Given the description of an element on the screen output the (x, y) to click on. 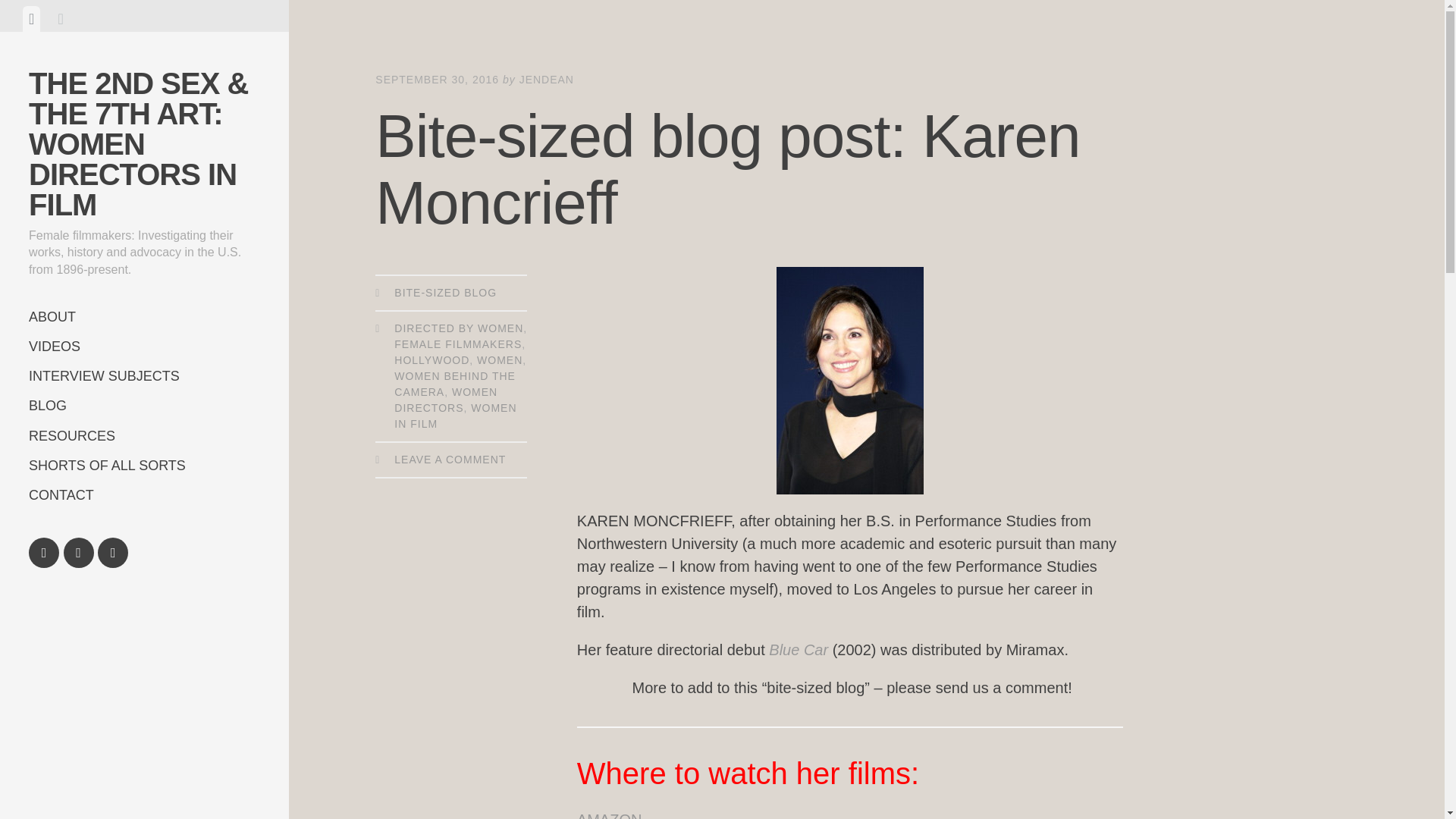
INTERVIEW SUBJECTS (144, 376)
Twitter (79, 552)
Facebook (44, 552)
BLOG (144, 405)
VIDEOS (144, 346)
SHORTS OF ALL SORTS (144, 465)
RESOURCES (144, 436)
ABOUT (144, 317)
Instagram (112, 552)
CONTACT (144, 495)
